Given the description of an element on the screen output the (x, y) to click on. 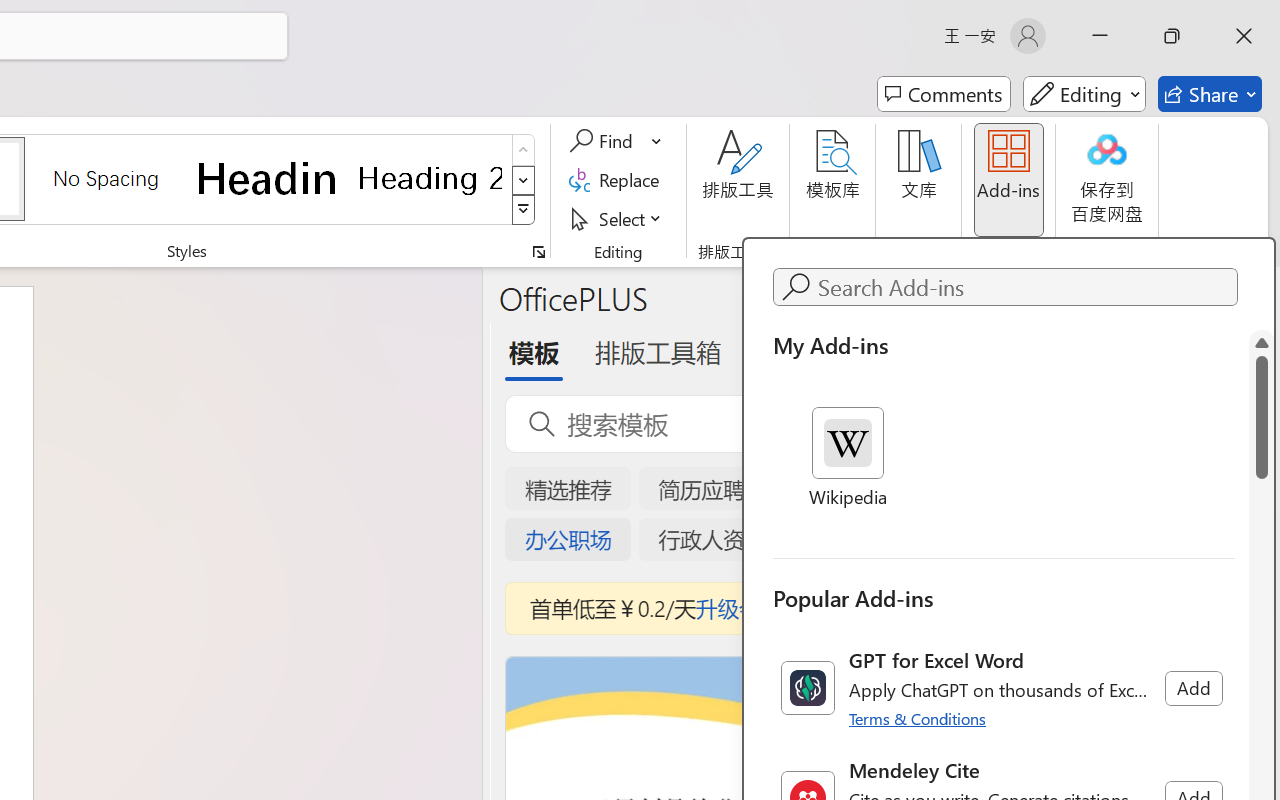
Styles... (538, 252)
Heading 2 (429, 178)
Find (616, 141)
More Options (657, 141)
Heading 1 (267, 178)
Restore Down (1172, 36)
Terms & Conditions (918, 718)
Close (1244, 36)
Row up (523, 150)
Minimize (1099, 36)
Class: NetUIImage (807, 687)
